Given the description of an element on the screen output the (x, y) to click on. 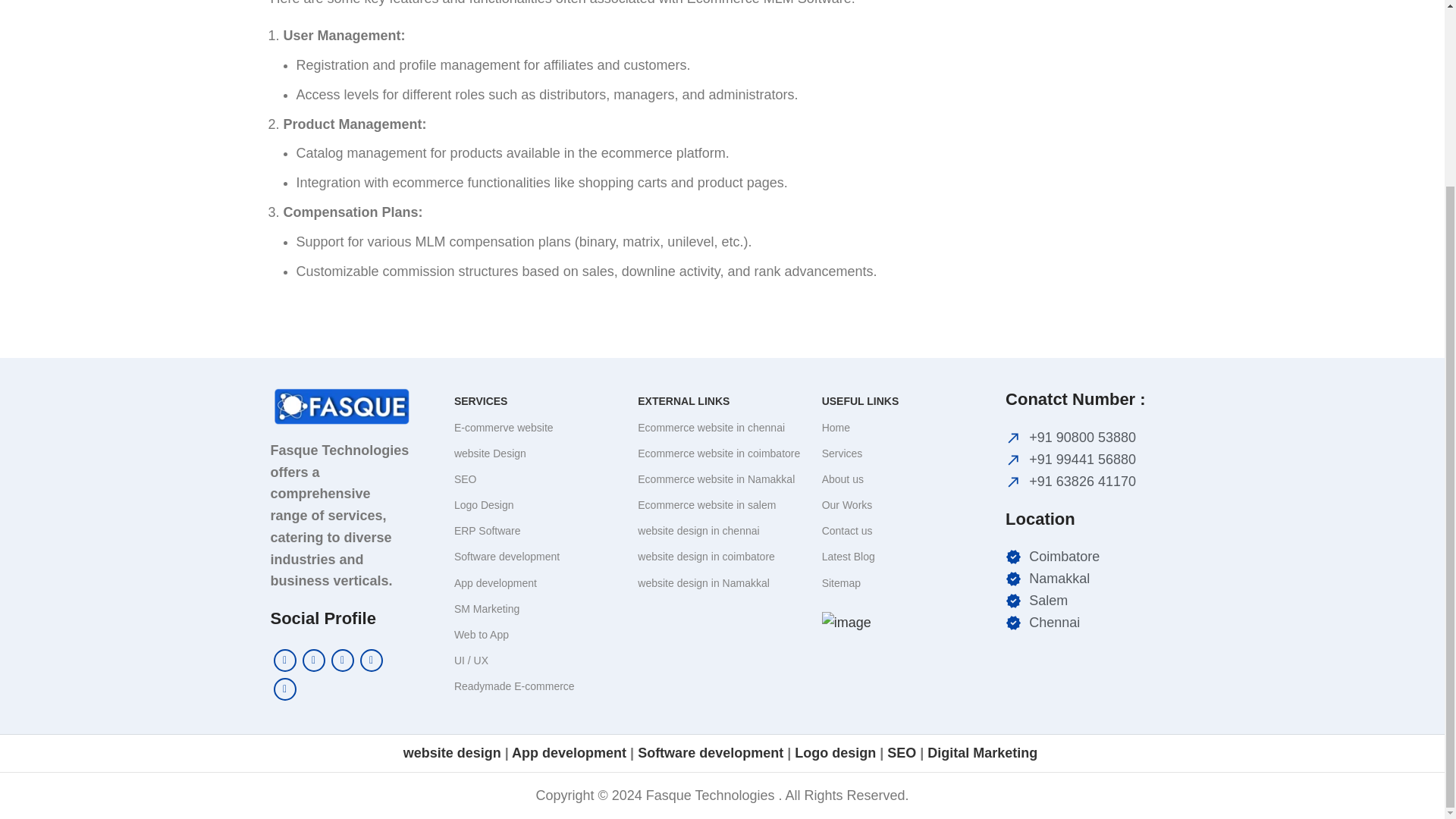
SERVICES (538, 401)
website Design (538, 453)
E-commerve website (538, 427)
